Given the description of an element on the screen output the (x, y) to click on. 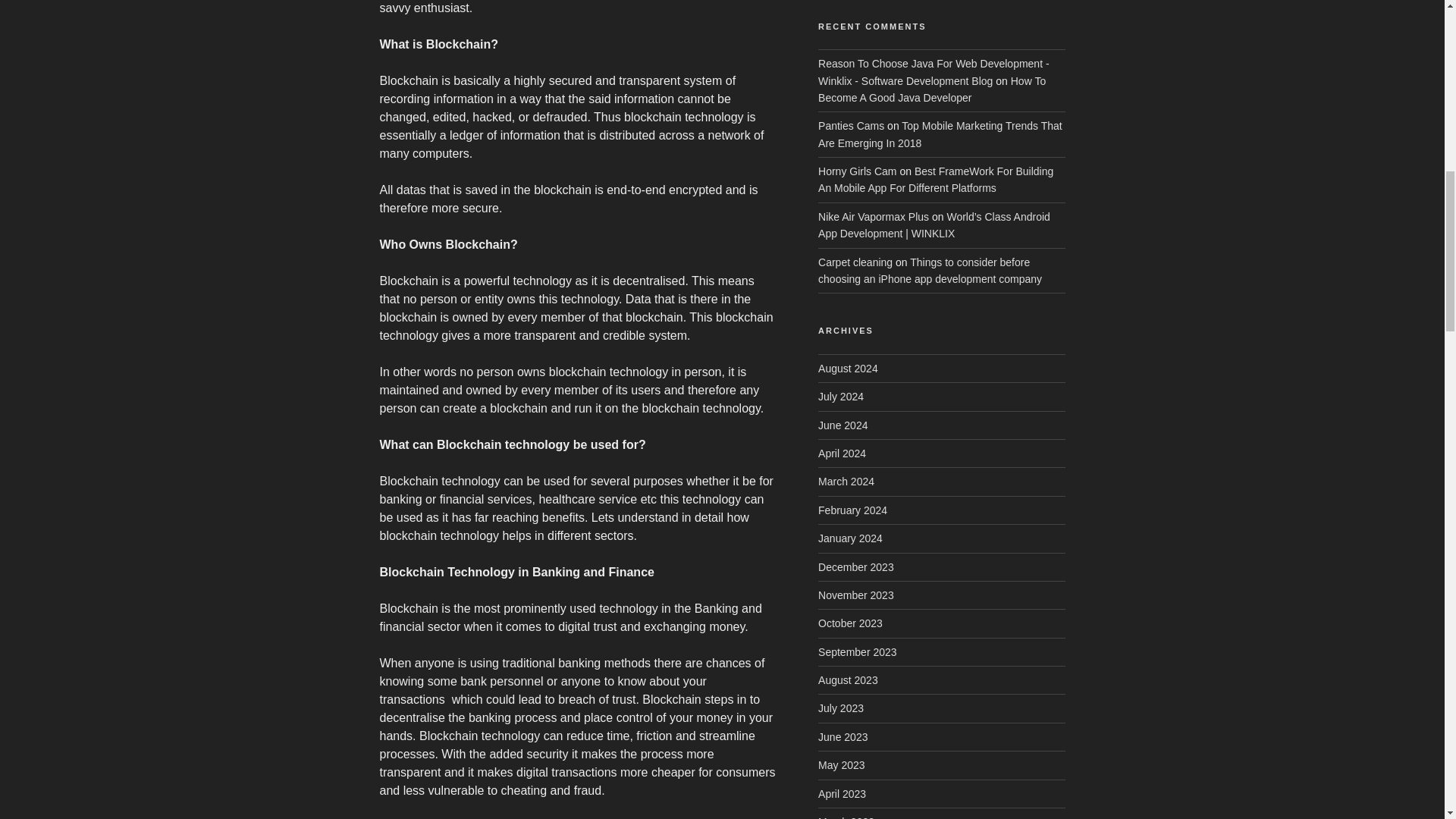
March 2024 (846, 481)
Nike Air Vapormax Plus (873, 216)
Top Mobile Marketing Trends That Are Emerging In 2018 (940, 133)
June 2024 (842, 425)
July 2024 (840, 396)
Panties Cams (850, 125)
Horny Girls Cam (857, 171)
How To Become A Good Java Developer (931, 88)
April 2024 (842, 453)
January 2024 (850, 538)
